Given the description of an element on the screen output the (x, y) to click on. 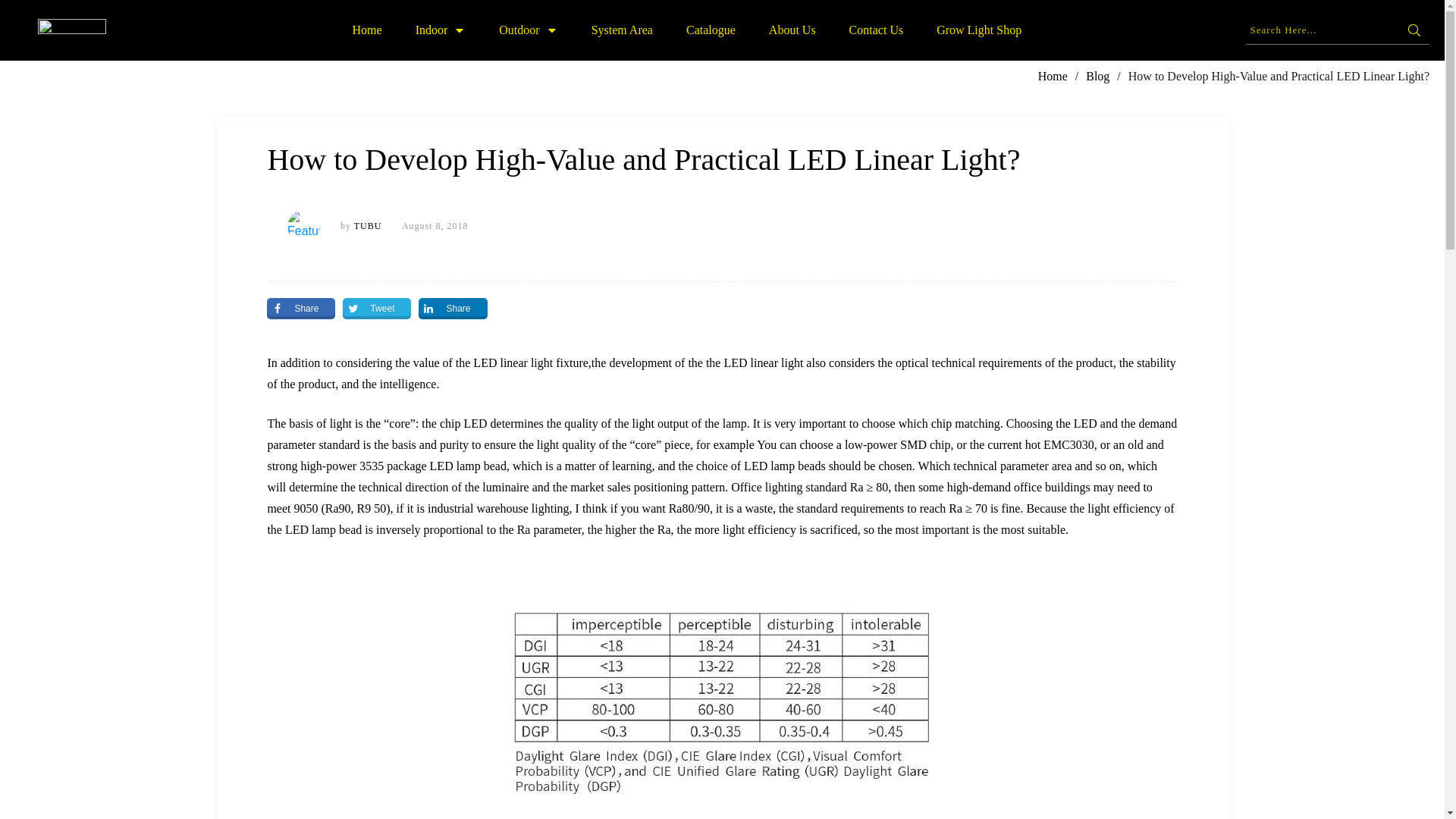
Home (366, 30)
Featured Image without Sidebar (303, 225)
Indoor (439, 30)
Outdoor (528, 30)
How to Develop High-Value and Practical LED Linear Light? (643, 159)
